Given the description of an element on the screen output the (x, y) to click on. 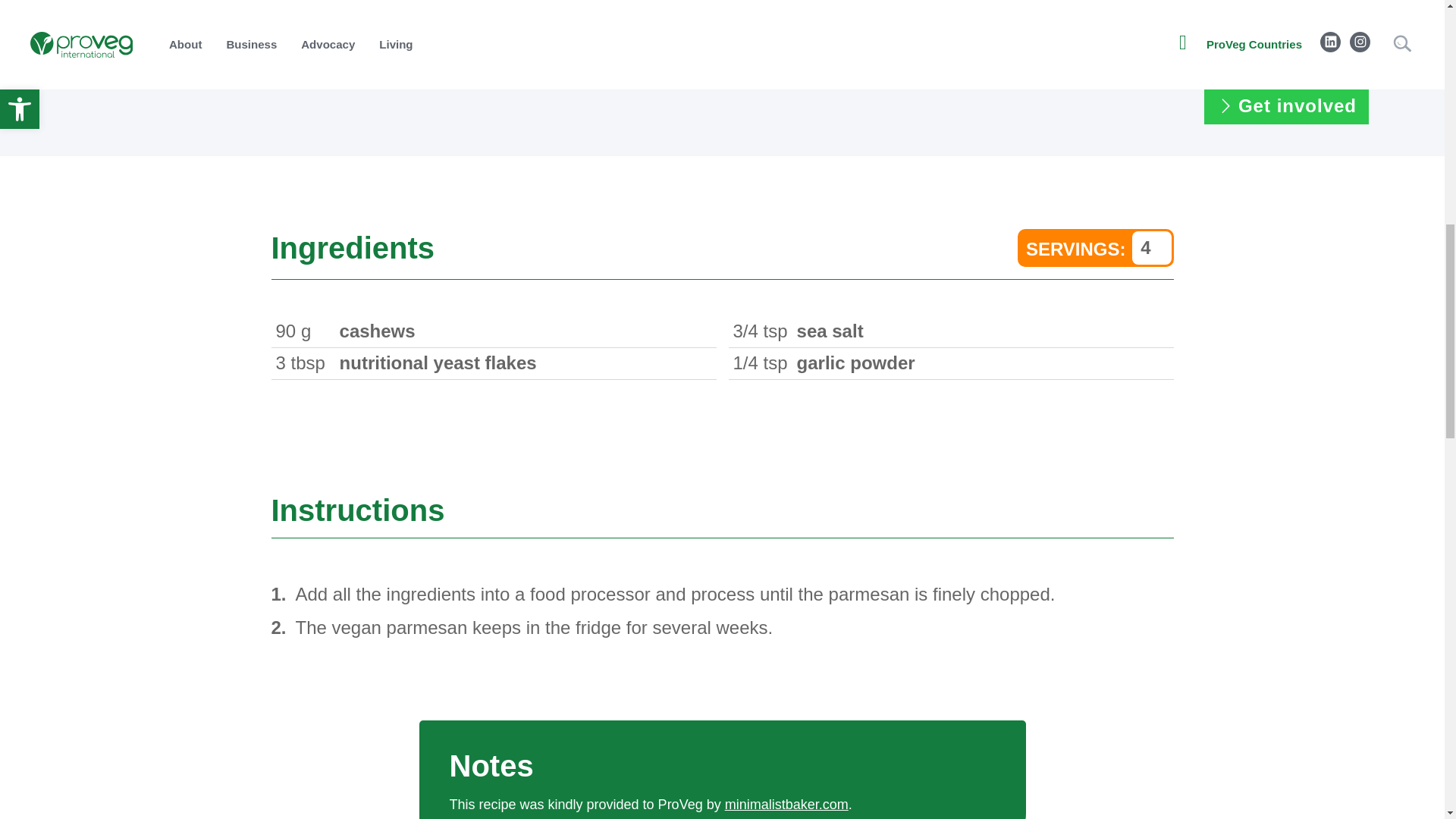
4 (1150, 247)
